Given the description of an element on the screen output the (x, y) to click on. 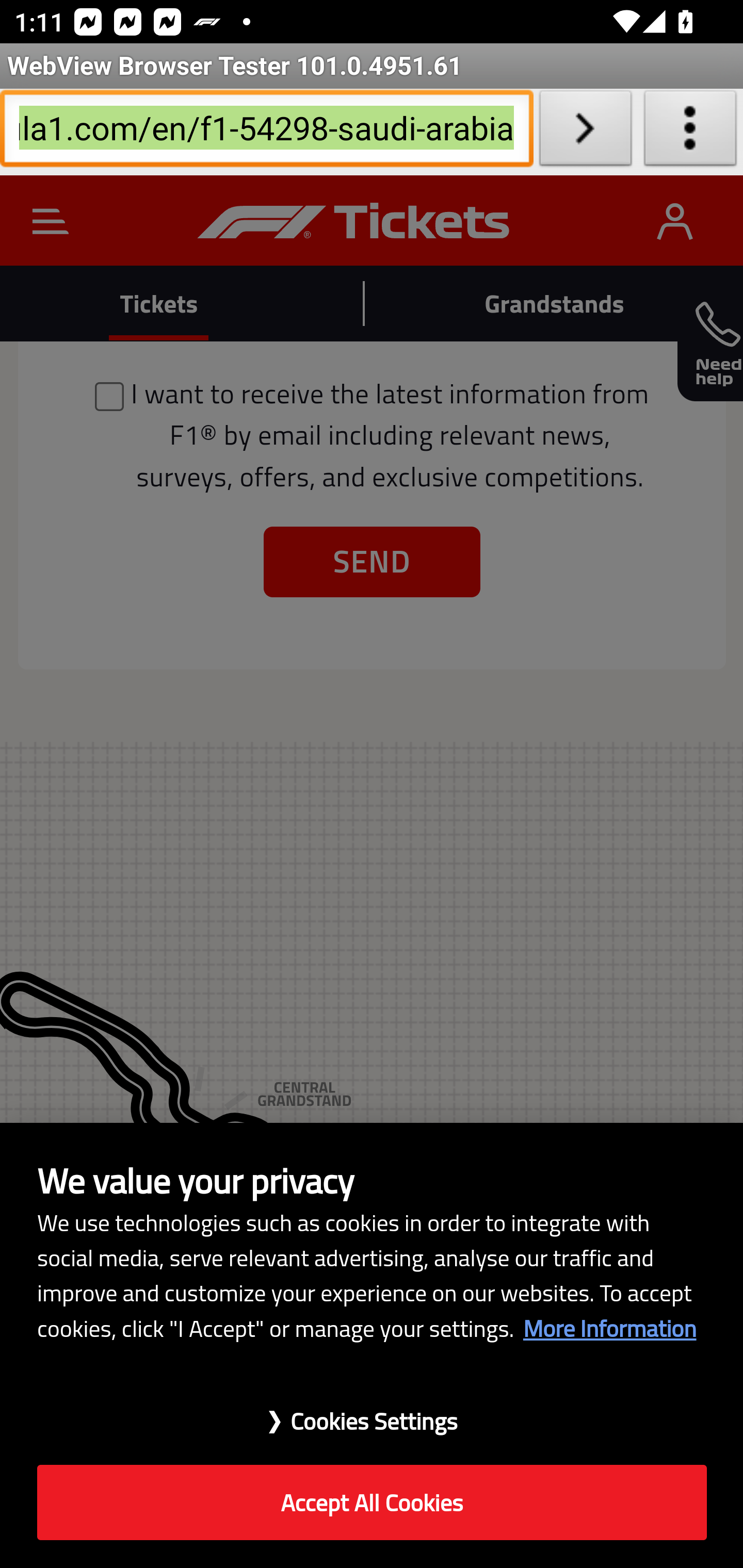
Load URL (585, 132)
About WebView (690, 132)
More Information (608, 1327)
❯Cookies Settings (372, 1411)
Accept All Cookies (372, 1502)
